Given the description of an element on the screen output the (x, y) to click on. 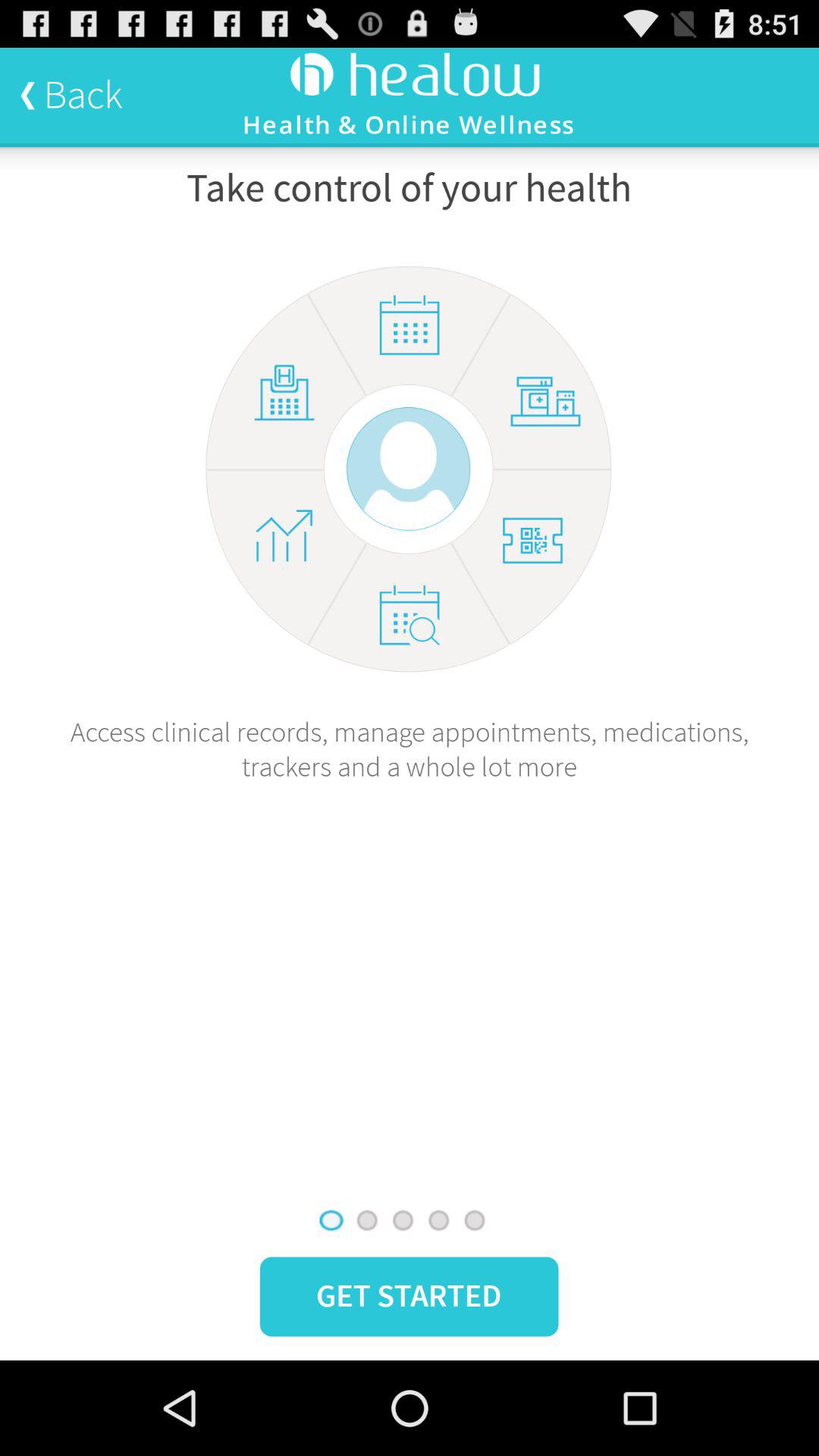
select the get started (408, 1296)
